Given the description of an element on the screen output the (x, y) to click on. 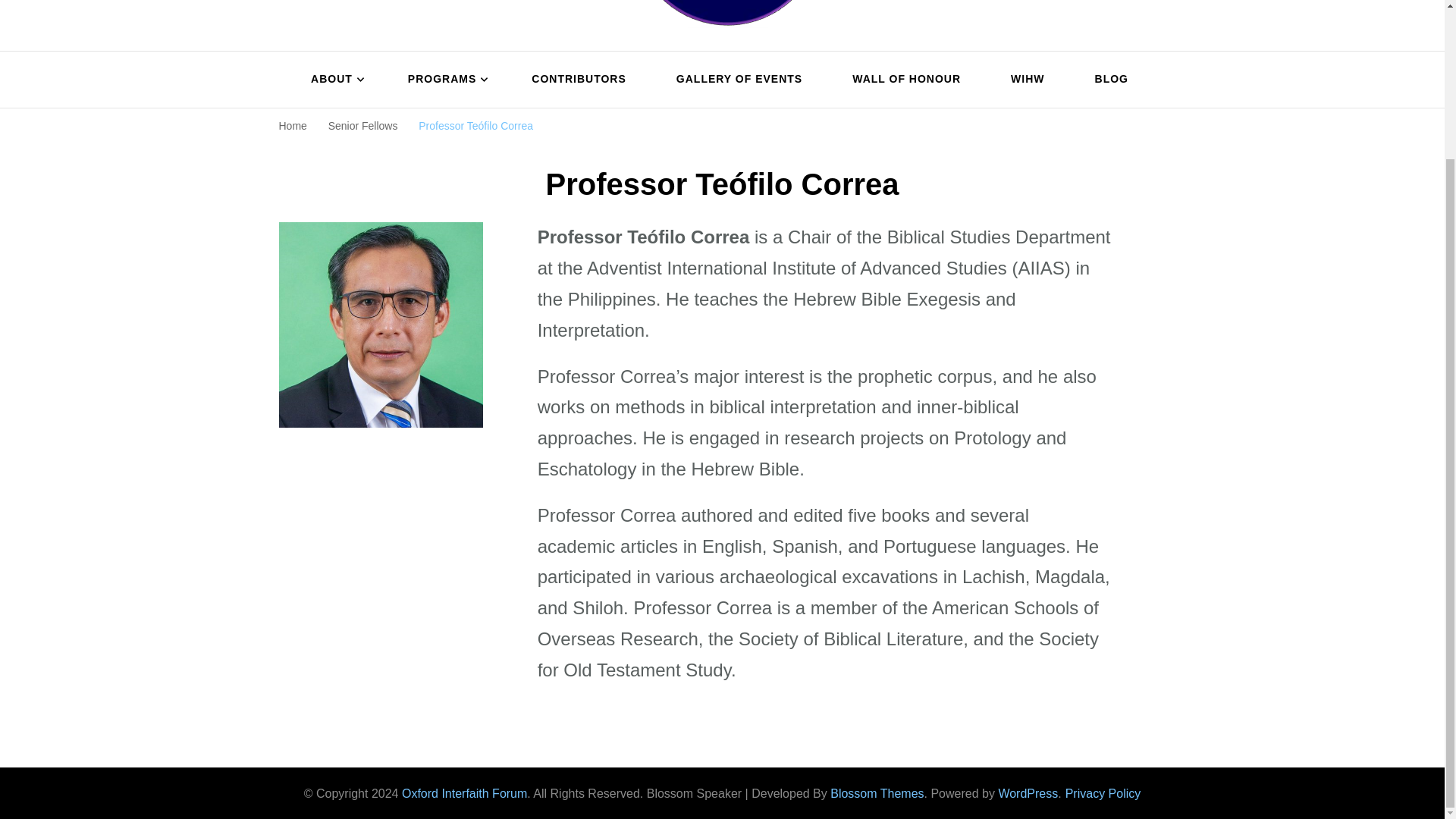
BLOG (1104, 79)
Home (293, 125)
WIHW (1027, 79)
GALLERY OF EVENTS (738, 79)
Oxford Interfaith Forum (464, 793)
PROGRAMS (444, 79)
WordPress (1027, 793)
ABOUT (334, 79)
Blossom Themes (876, 793)
Senior Fellows (363, 125)
Privacy Policy (1103, 793)
CONTRIBUTORS (579, 79)
WALL OF HONOUR (906, 79)
